Given the description of an element on the screen output the (x, y) to click on. 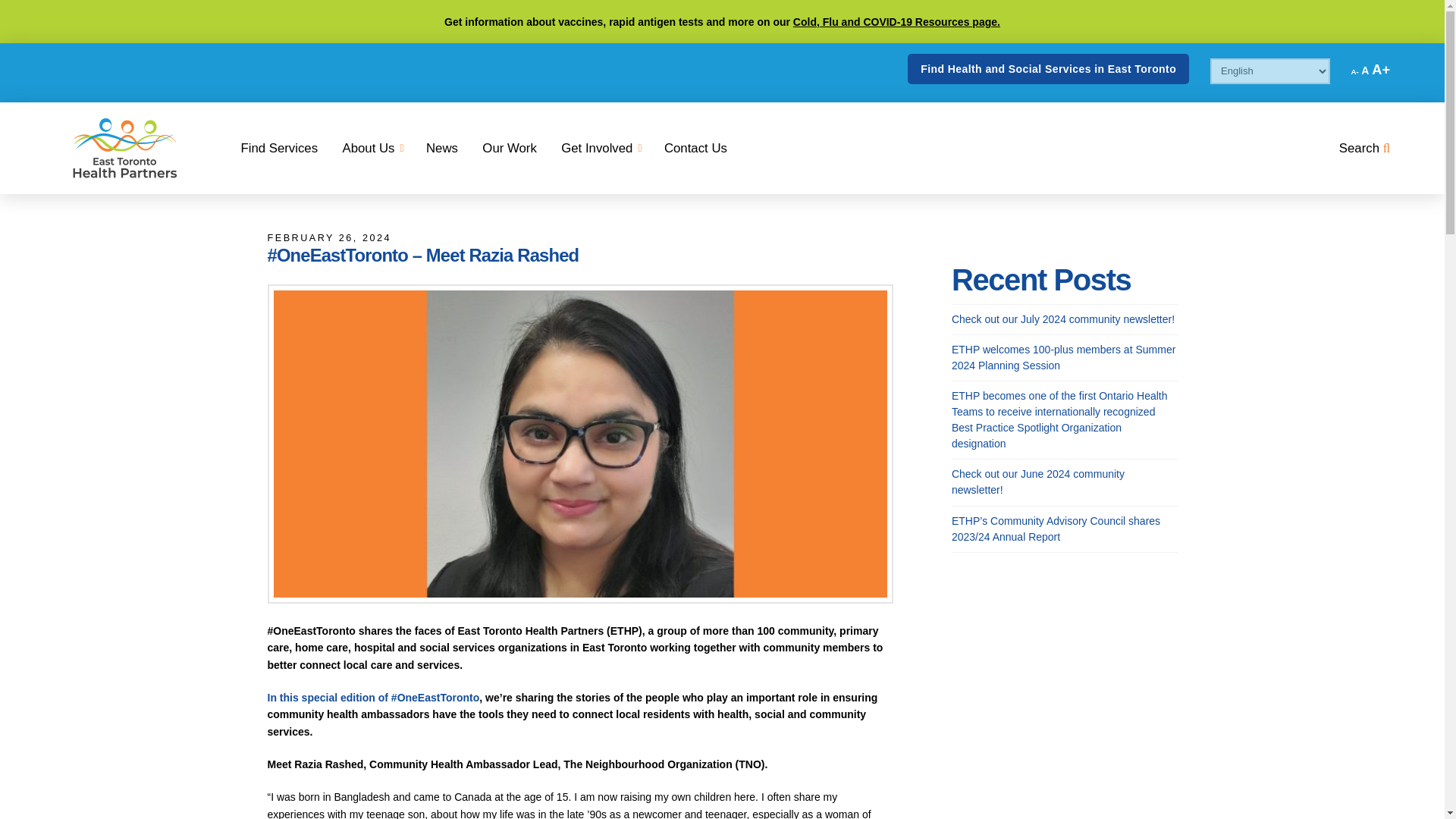
Search (1364, 148)
Cold, Flu and COVID-19 Resources page. (896, 21)
News (441, 148)
Contact Us (695, 148)
Get Involved (600, 148)
About Us (371, 148)
Find Services (278, 148)
Find Health and Social Services in East Toronto (1047, 69)
Our Work (1354, 71)
Check out our July 2024 community newsletter! (509, 148)
Check out our June 2024 community newsletter! (1063, 318)
